Given the description of an element on the screen output the (x, y) to click on. 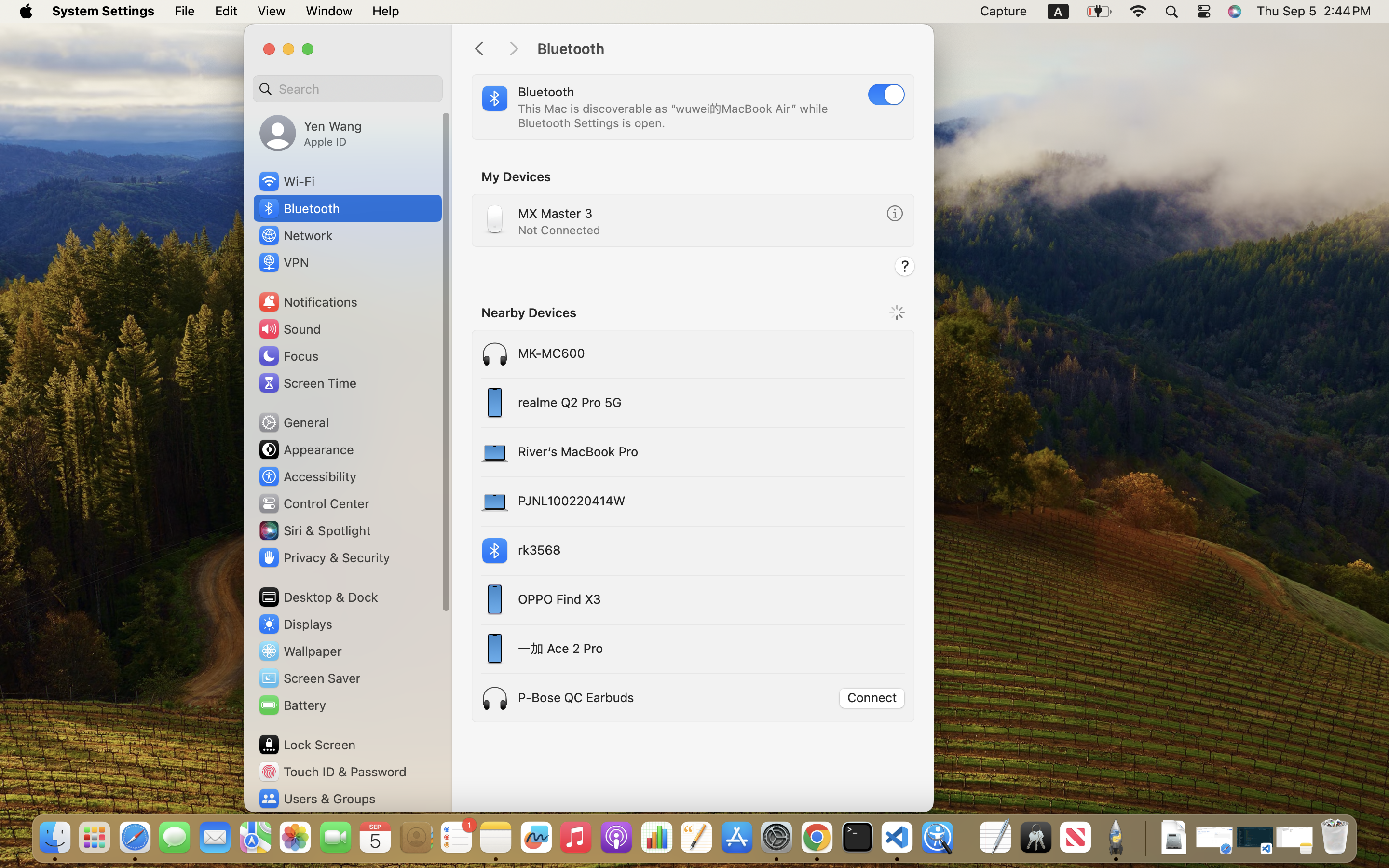
Desktop & Dock Element type: AXStaticText (317, 596)
Screen Saver Element type: AXStaticText (308, 677)
Sound Element type: AXStaticText (289, 328)
Bluetooth Element type: AXStaticText (725, 49)
River‘s MacBook Pro Element type: AXStaticText (655, 451)
